Given the description of an element on the screen output the (x, y) to click on. 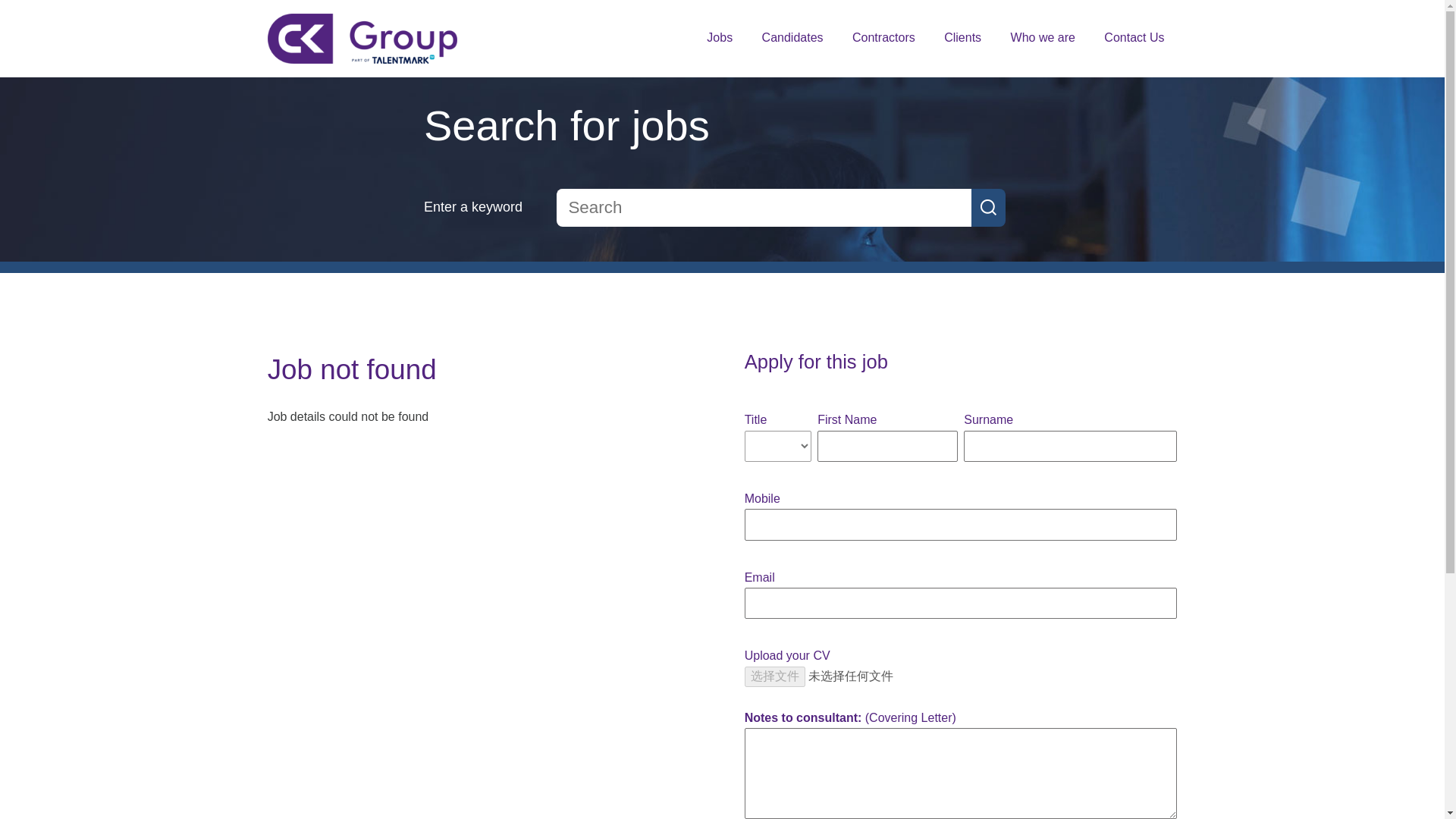
Contact Us (1133, 43)
GO (988, 207)
Clients (962, 43)
Clients (962, 43)
Jobs (719, 43)
Who we are (1042, 43)
Who we are (1042, 43)
GO (988, 207)
Contractors (883, 43)
Science Jobs (719, 43)
